Given the description of an element on the screen output the (x, y) to click on. 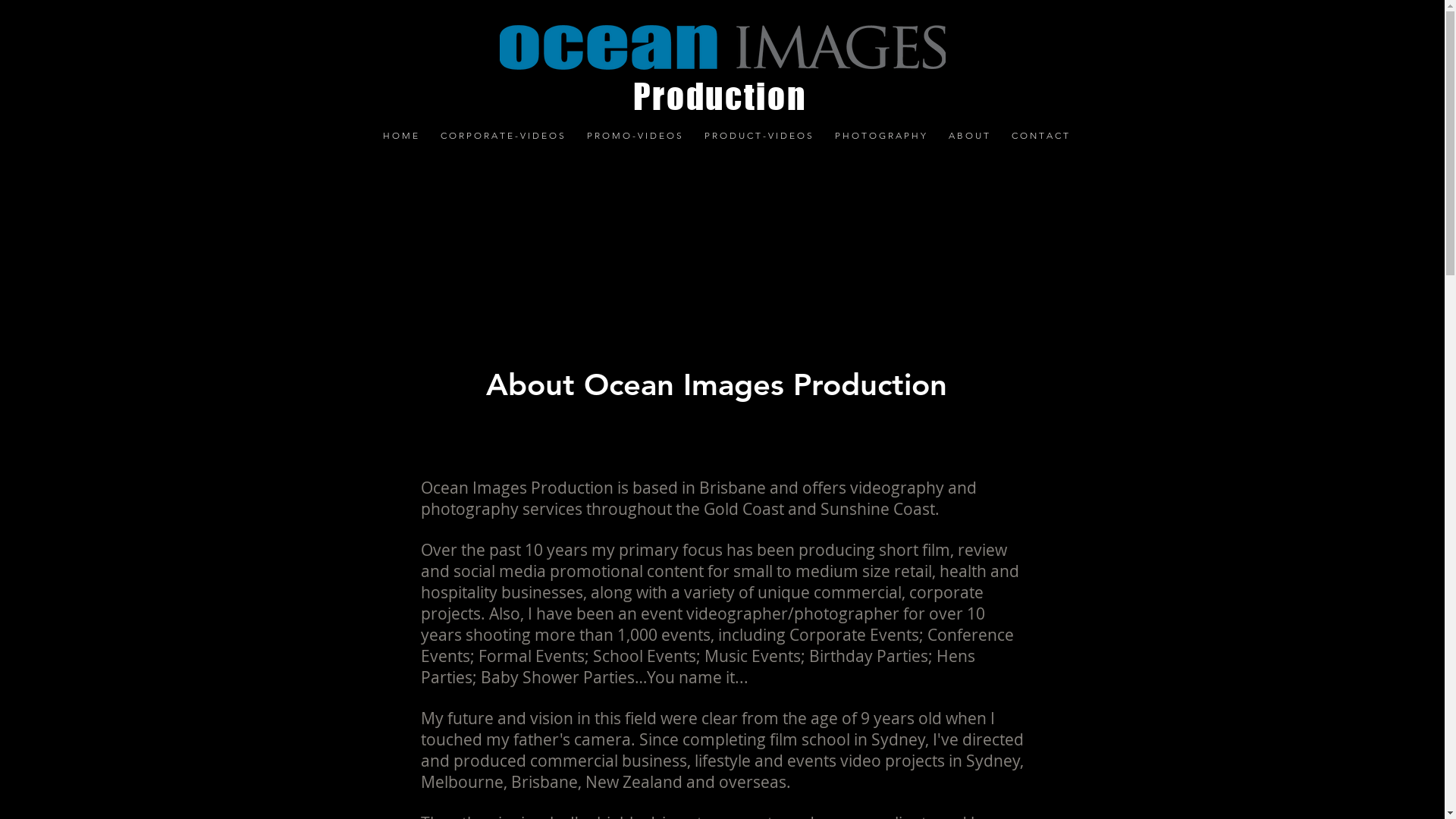
C O N T A C T Element type: text (1039, 135)
C O R P O R A T E - V I D E O S Element type: text (502, 135)
P R O D U C T - V I D E O S Element type: text (758, 135)
H O M E Element type: text (400, 135)
P R O M O - V I D E O S Element type: text (633, 135)
Web Logo Watermark.png Element type: hover (721, 48)
